Given the description of an element on the screen output the (x, y) to click on. 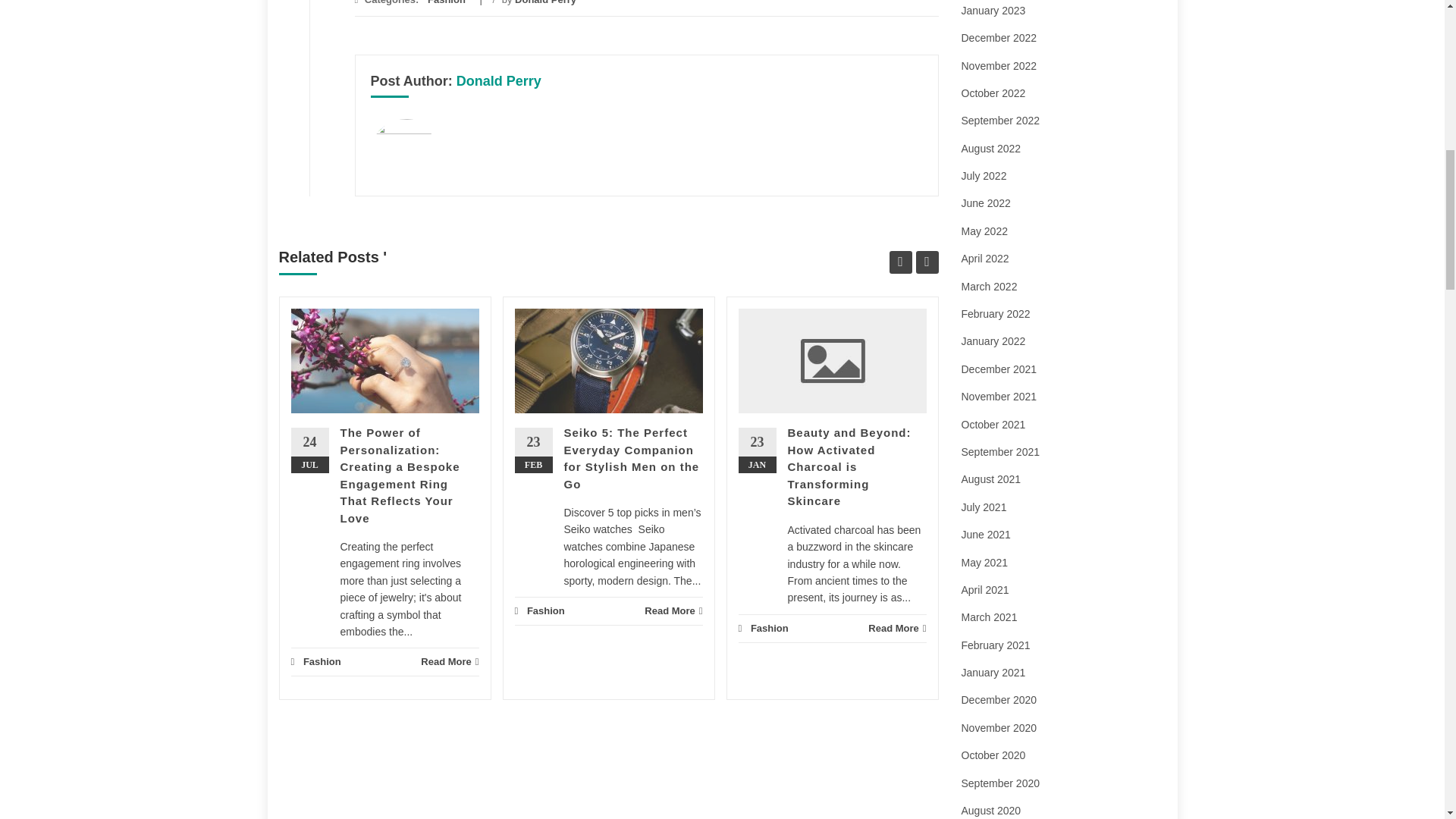
Donald Perry (545, 2)
Donald Perry (499, 80)
Fashion (321, 661)
Fashion (446, 2)
